Given the description of an element on the screen output the (x, y) to click on. 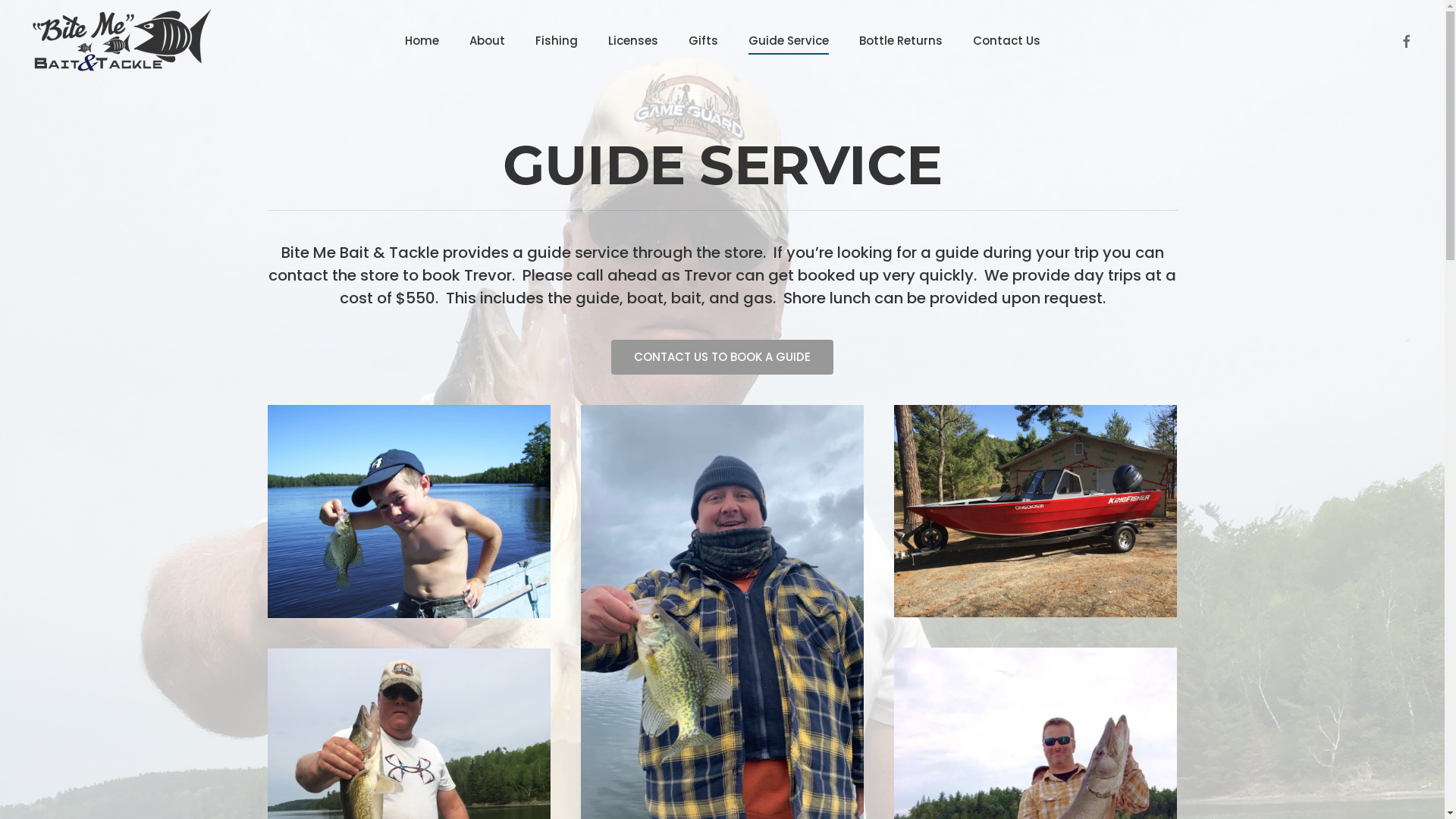
CONTACT US TO BOOK A GUIDE Element type: text (722, 356)
Guide Service Element type: text (787, 40)
Licenses Element type: text (633, 40)
Gifts Element type: text (703, 40)
About Element type: text (486, 40)
Home Element type: text (421, 40)
Bottle Returns Element type: text (899, 40)
Fishing Element type: text (556, 40)
Contact Us Element type: text (1005, 40)
